Given the description of an element on the screen output the (x, y) to click on. 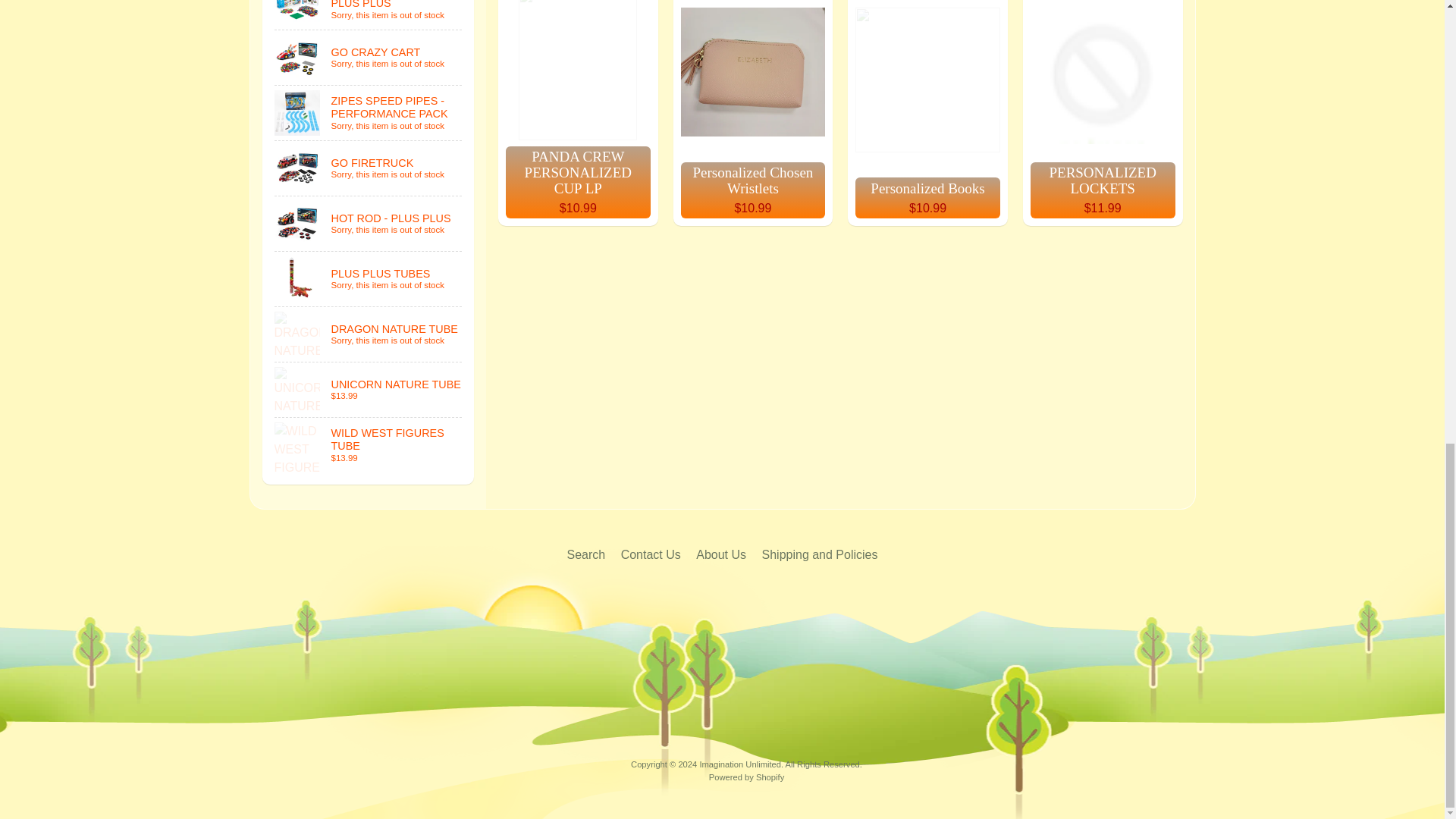
WILD WEST FIGURES TUBE (369, 444)
PLUS PLUS TUBES (369, 278)
GO CRAZY CART (369, 57)
UNICORN NATURE TUBE (369, 389)
GO FIRETRUCK (369, 167)
LEARN TO BUILD BASIC- PLUS PLUS (369, 14)
ZIPES SPEED PIPES - PERFORMANCE PACK (369, 112)
HOT ROD - PLUS PLUS (369, 223)
DRAGON NATURE TUBE (369, 334)
